Given the description of an element on the screen output the (x, y) to click on. 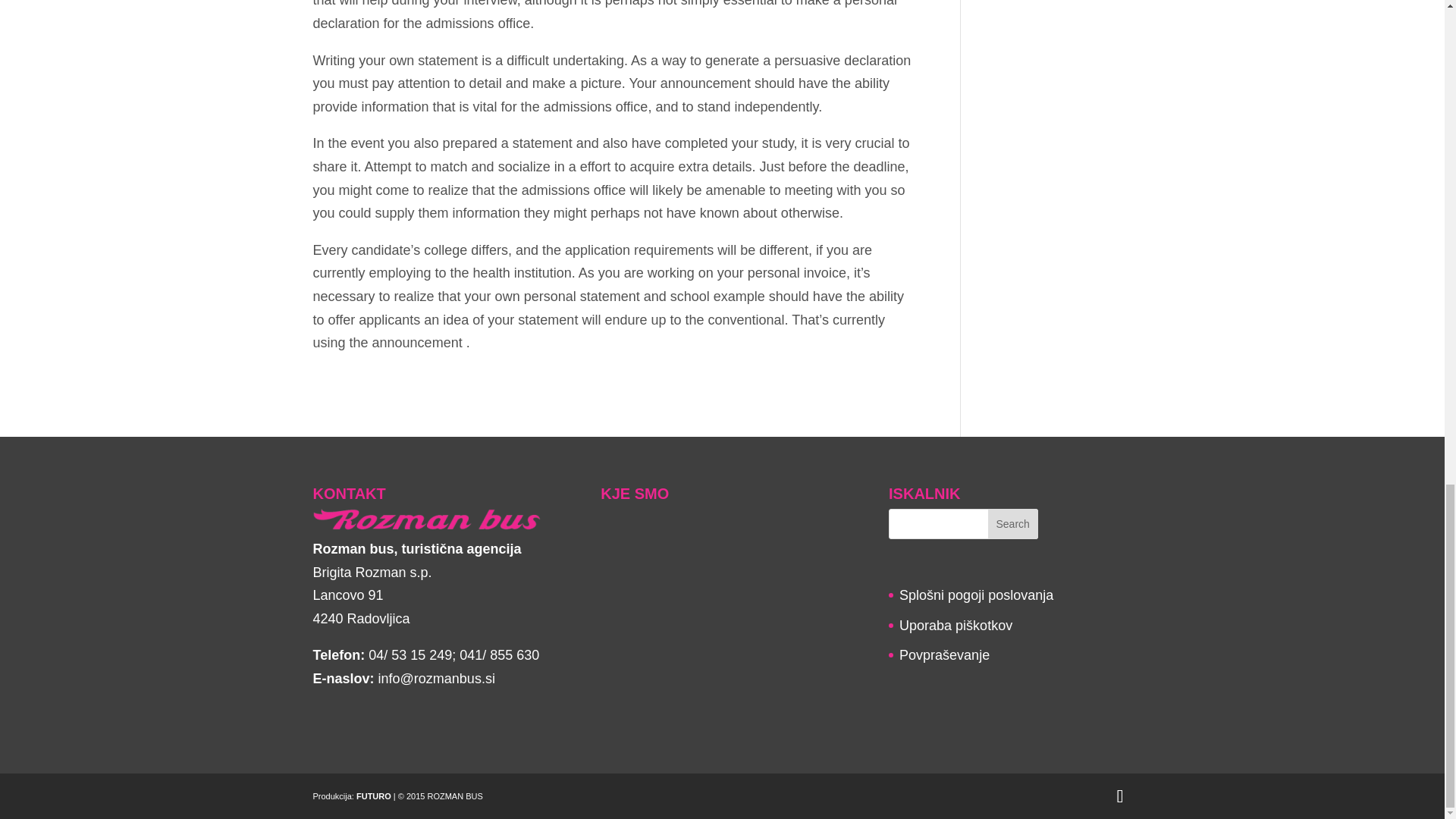
Search (1013, 523)
